Given the description of an element on the screen output the (x, y) to click on. 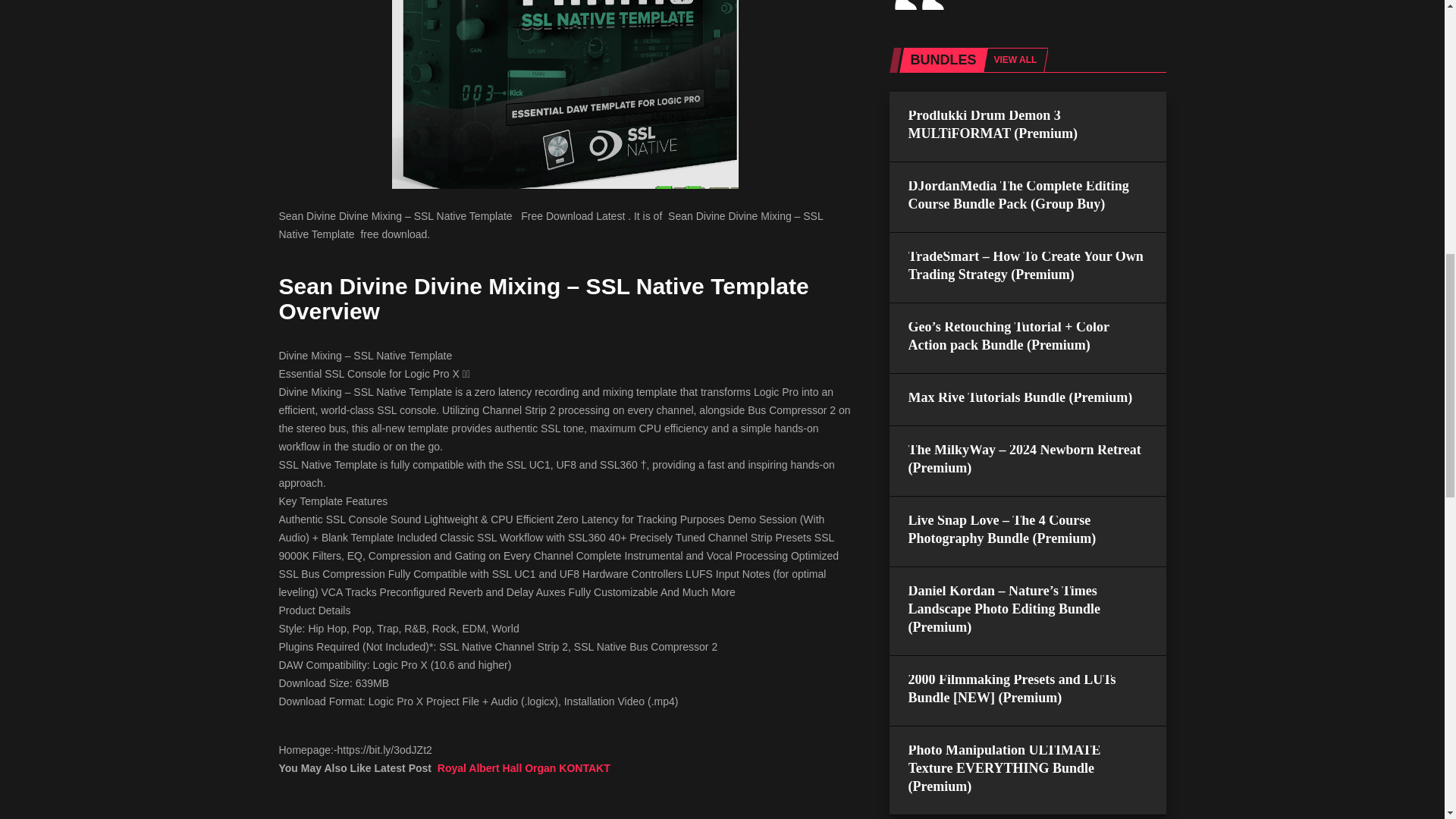
Search (1016, 396)
